Given the description of an element on the screen output the (x, y) to click on. 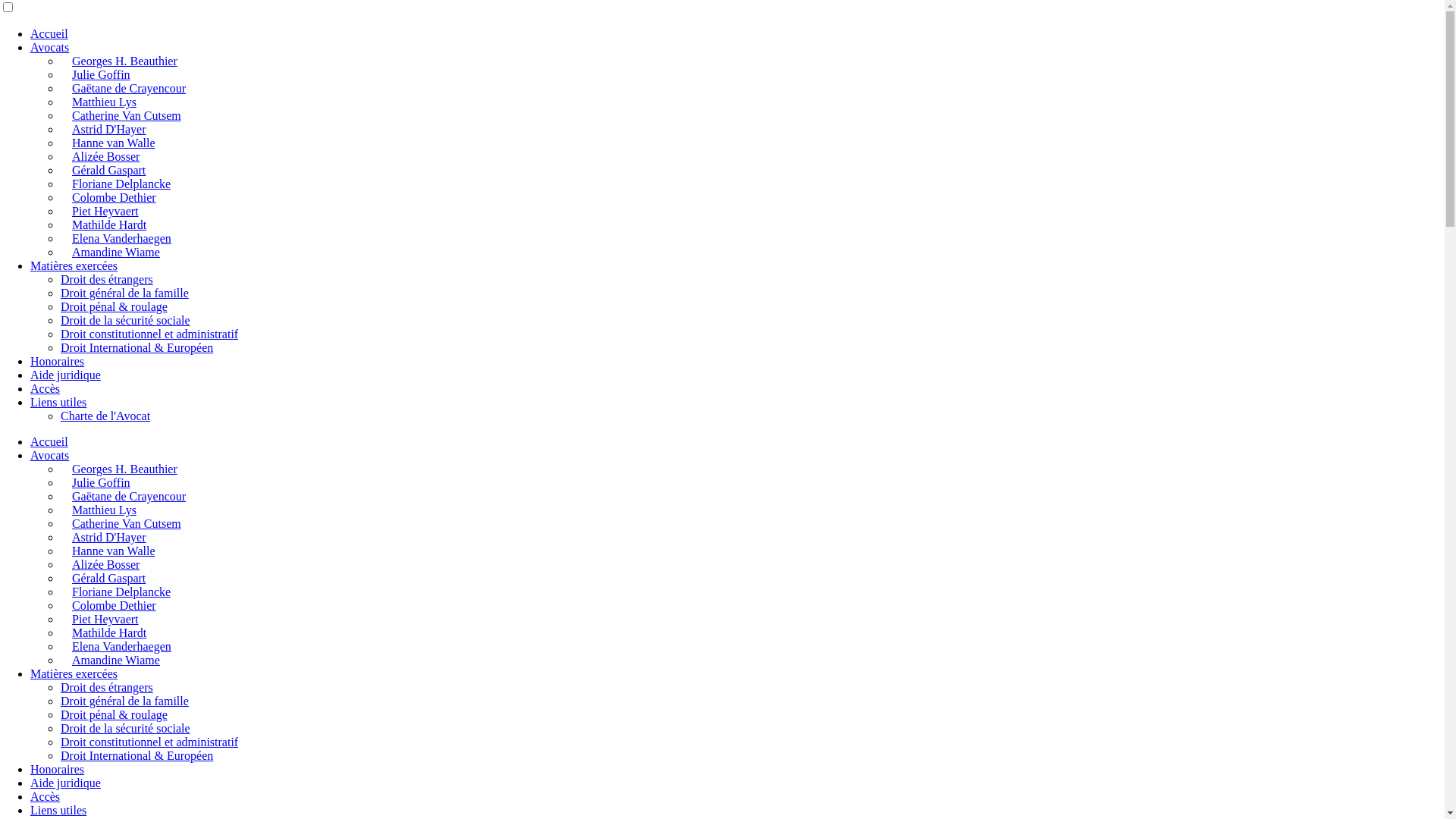
Accueil Element type: text (49, 441)
Elena Vanderhaegen Element type: text (121, 646)
Mathilde Hardt Element type: text (108, 632)
Aide juridique Element type: text (65, 782)
Matthieu Lys Element type: text (103, 509)
Colombe Dethier Element type: text (113, 197)
Catherine Van Cutsem Element type: text (126, 523)
Piet Heyvaert Element type: text (105, 210)
Hanne van Walle Element type: text (113, 550)
Hanne van Walle Element type: text (113, 142)
Honoraires Element type: text (57, 768)
Honoraires Element type: text (57, 360)
Elena Vanderhaegen Element type: text (121, 238)
Amandine Wiame Element type: text (115, 251)
Avocats Element type: text (49, 454)
Liens utiles Element type: text (58, 401)
Astrid D'Hayer Element type: text (108, 537)
Charte de l'Avocat Element type: text (105, 415)
Mathilde Hardt Element type: text (108, 224)
Accueil Element type: text (49, 33)
Aide juridique Element type: text (65, 374)
Liens utiles Element type: text (58, 809)
Julie Goffin Element type: text (100, 74)
Piet Heyvaert Element type: text (105, 618)
Catherine Van Cutsem Element type: text (126, 115)
Floriane Delplancke Element type: text (121, 591)
Julie Goffin Element type: text (100, 482)
Droit constitutionnel et administratif Element type: text (149, 333)
Astrid D'Hayer Element type: text (108, 129)
Droit constitutionnel et administratif Element type: text (149, 741)
Georges H. Beauthier Element type: text (124, 468)
Matthieu Lys Element type: text (103, 101)
Avocats Element type: text (49, 46)
Colombe Dethier Element type: text (113, 605)
Amandine Wiame Element type: text (115, 659)
Floriane Delplancke Element type: text (121, 183)
Georges H. Beauthier Element type: text (124, 60)
